Given the description of an element on the screen output the (x, y) to click on. 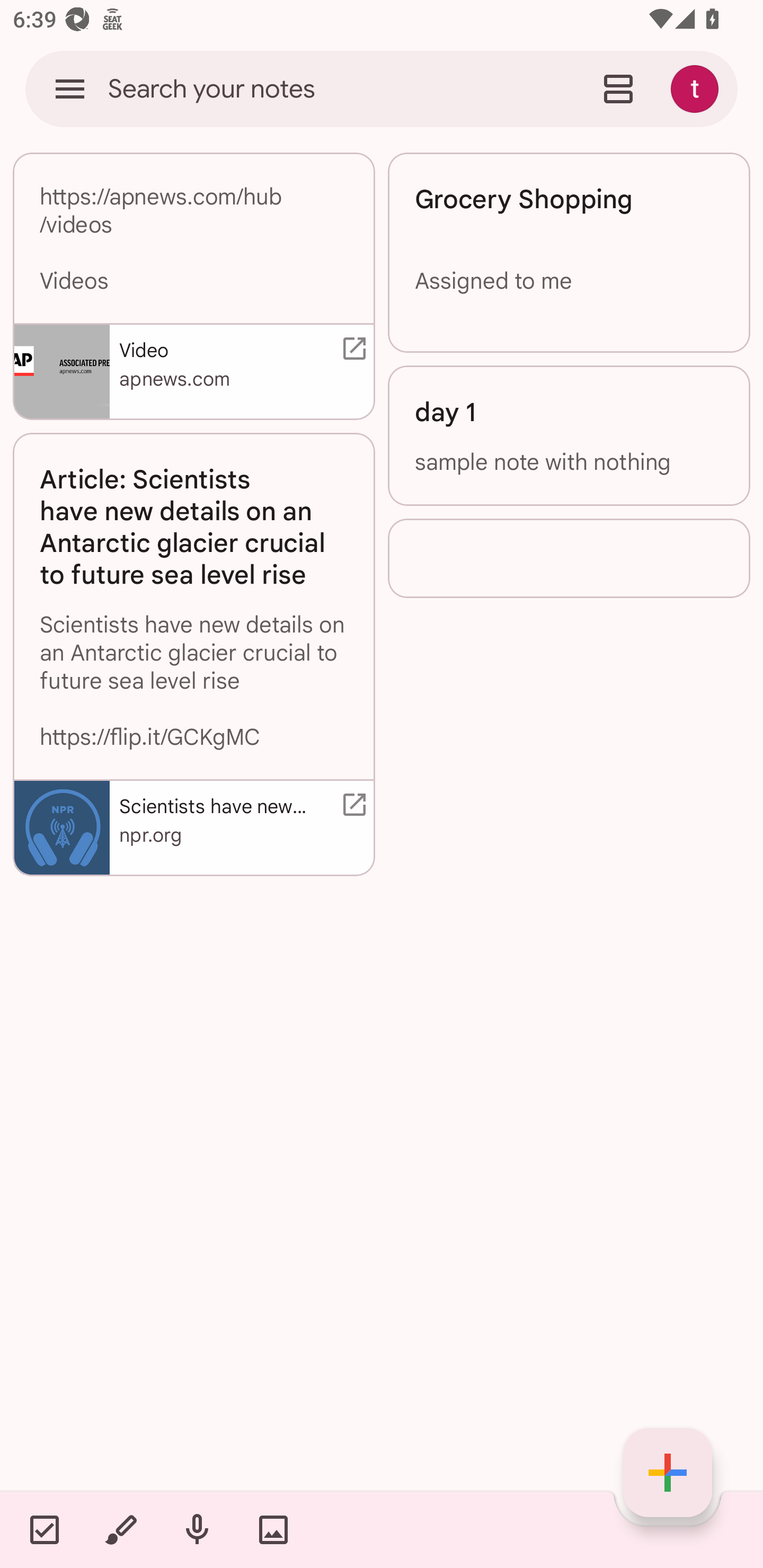
Open navigation drawer (70, 88)
Single-column view (617, 88)
Account and settings. (696, 88)
Link preview popout (350, 348)
.  (568, 558)
Link preview popout (350, 804)
New text note (667, 1472)
New list (44, 1529)
New drawing note (120, 1529)
New audio note (196, 1529)
New photo note (273, 1529)
